Given the description of an element on the screen output the (x, y) to click on. 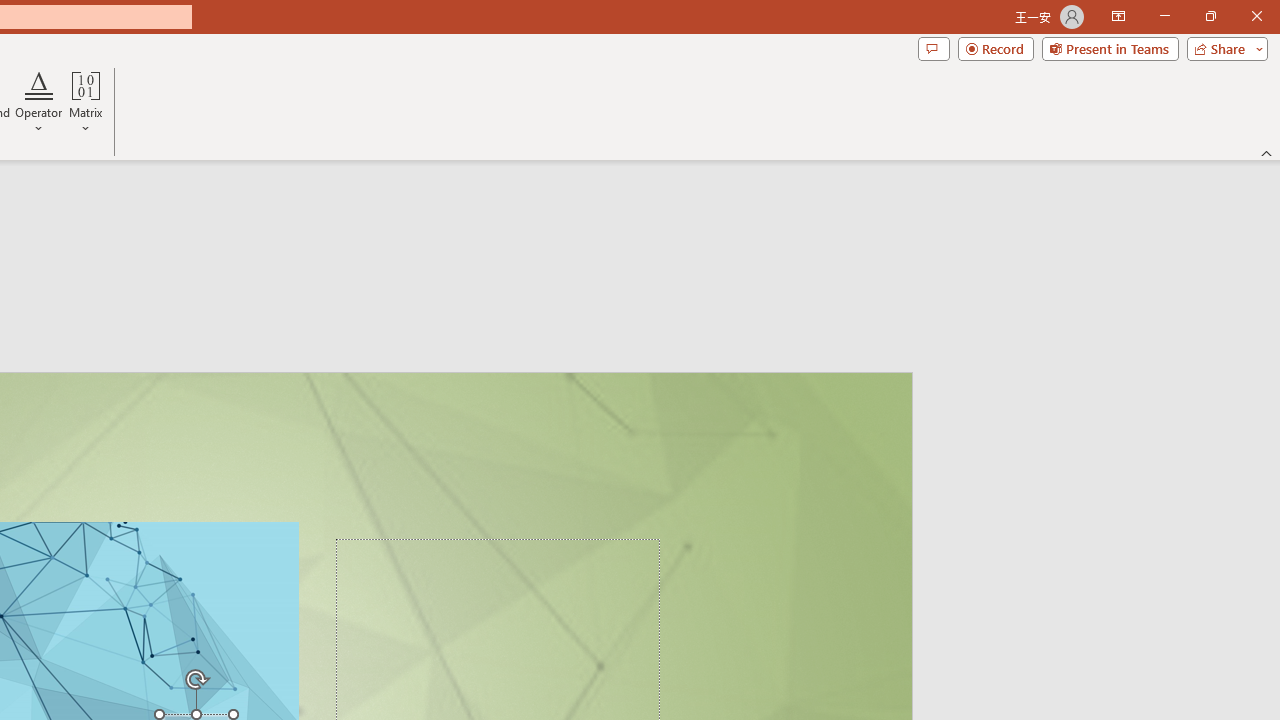
Operator (38, 102)
Matrix (86, 102)
